Given the description of an element on the screen output the (x, y) to click on. 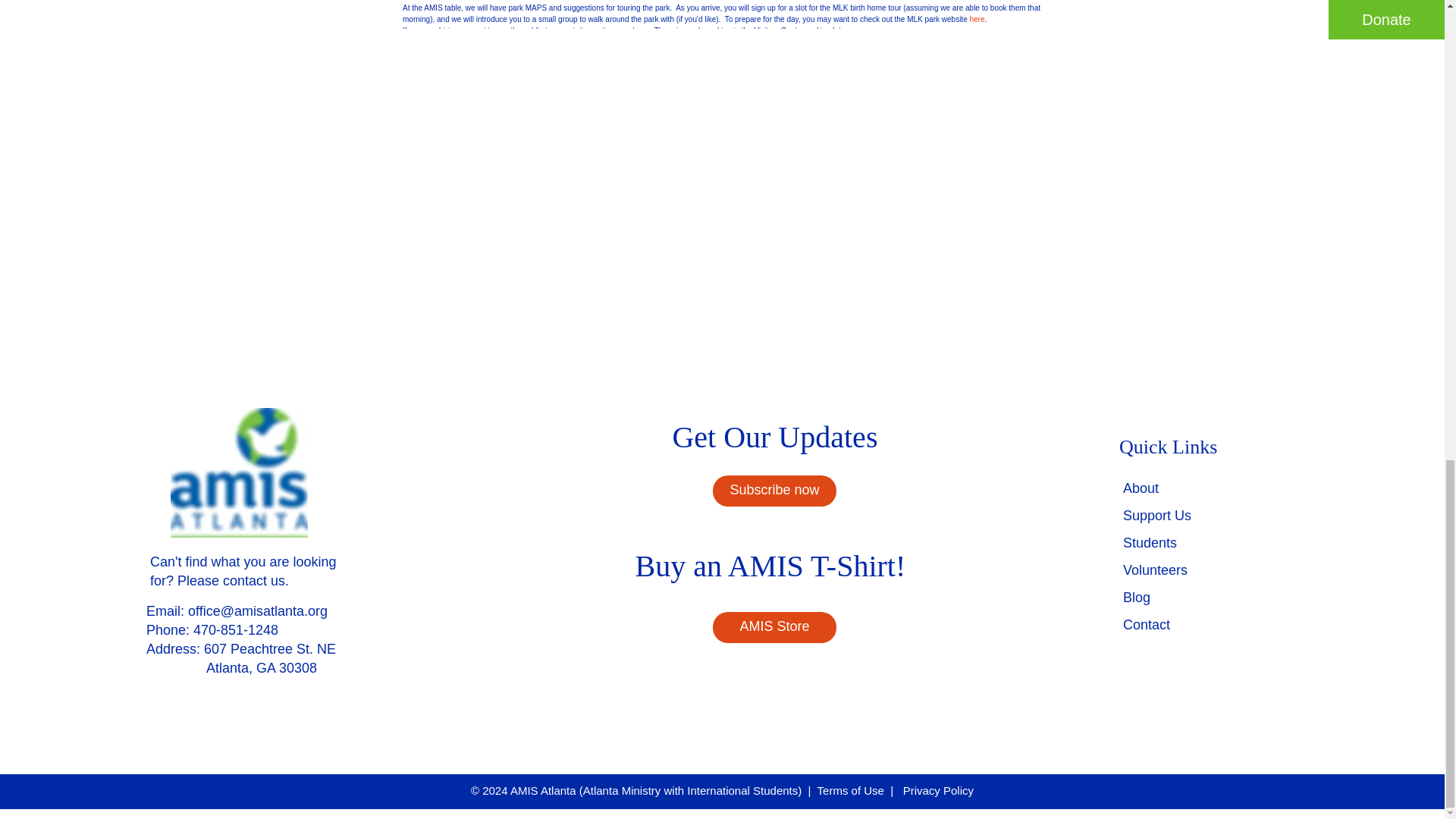
Support Us (1156, 515)
AMIS Store (774, 626)
here (976, 19)
About (1140, 488)
Subscribe now (774, 490)
Students (1149, 542)
here (640, 30)
